Given the description of an element on the screen output the (x, y) to click on. 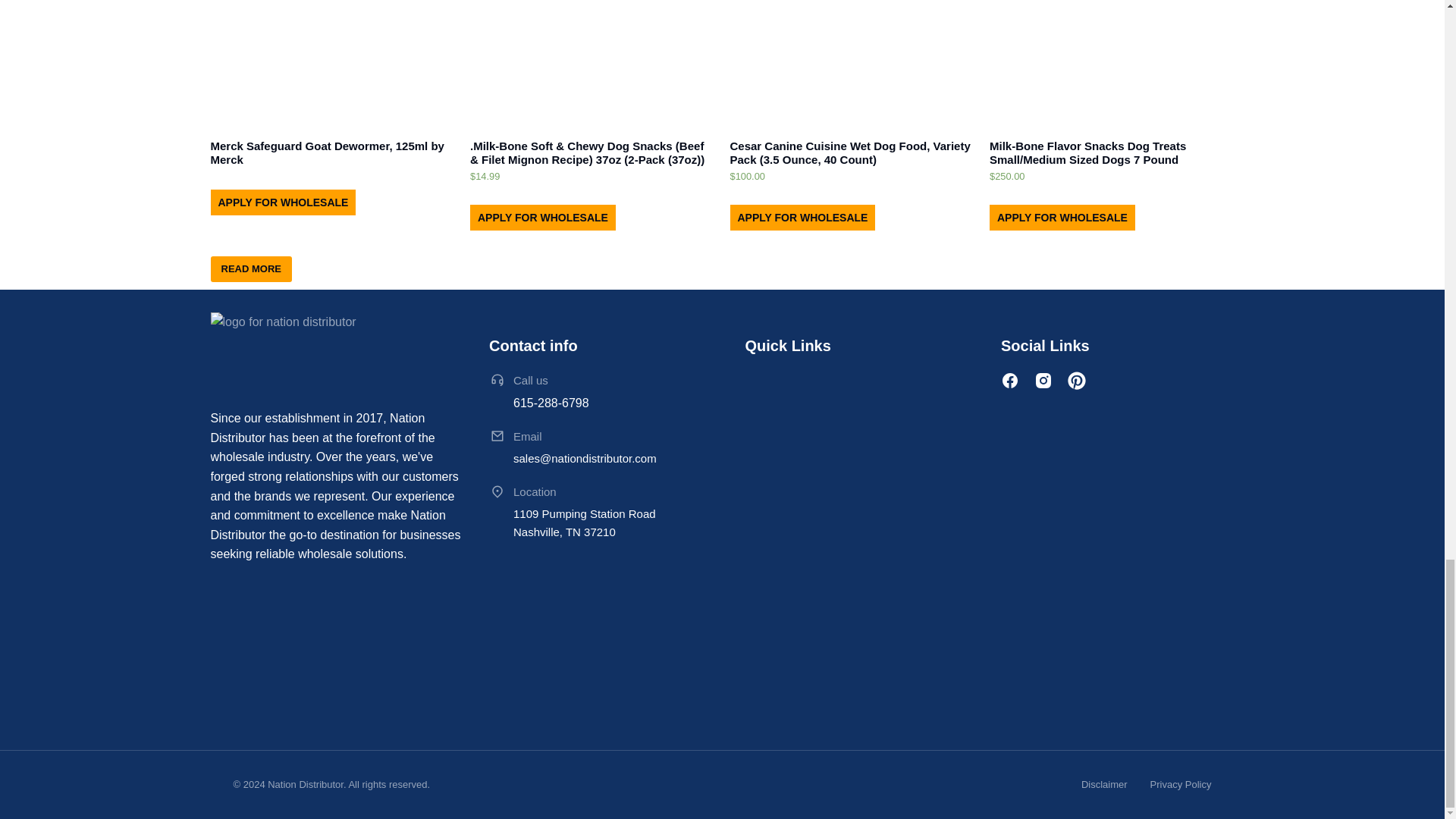
READ MORE (251, 268)
Merck Safeguard Goat Dewormer, 125ml by Merck (333, 153)
APPLY FOR WHOLESALE (283, 202)
